Given the description of an element on the screen output the (x, y) to click on. 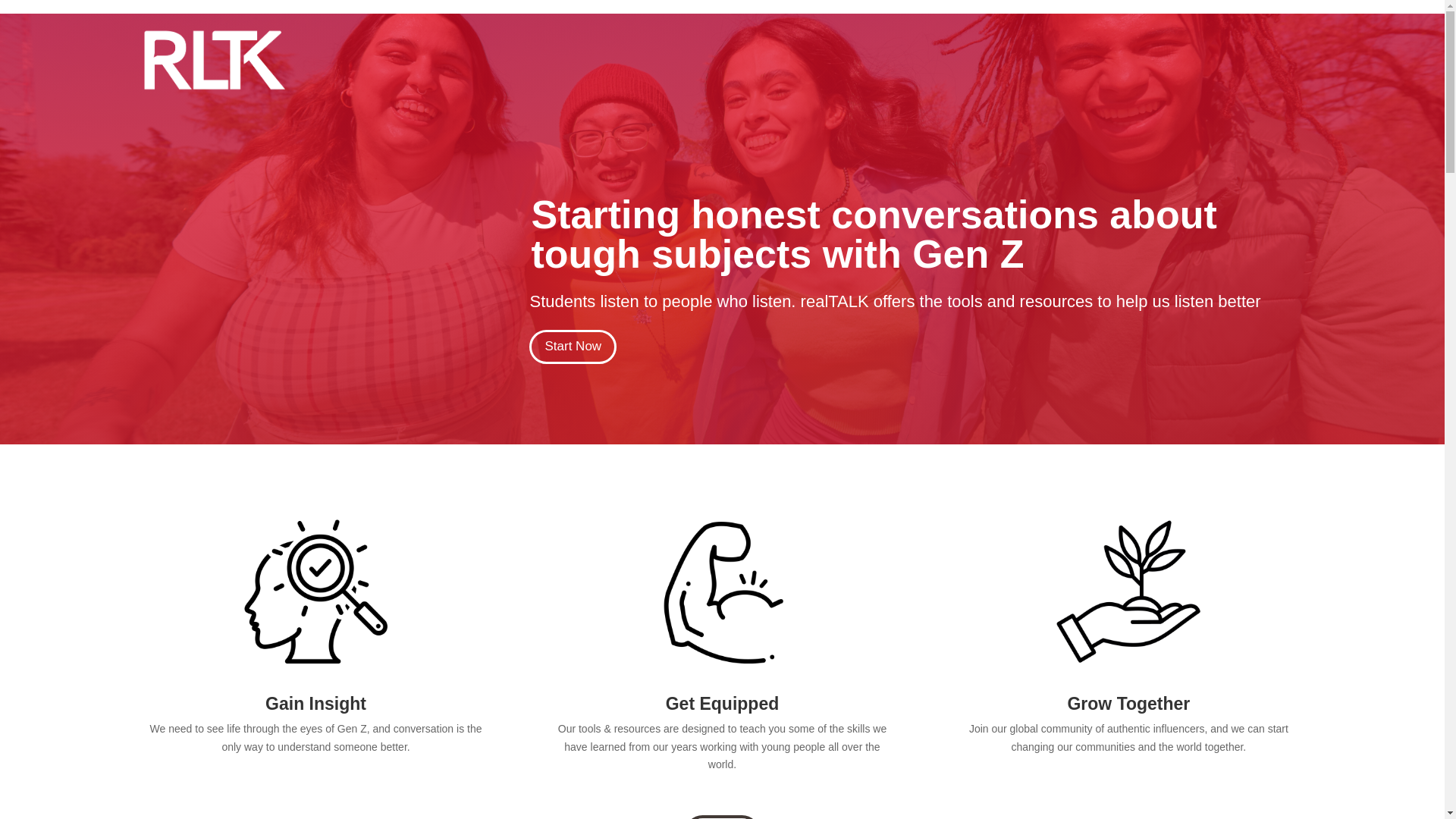
Start Now (572, 346)
10 (722, 591)
Join Us (722, 816)
10 (1128, 591)
10 (316, 591)
